Given the description of an element on the screen output the (x, y) to click on. 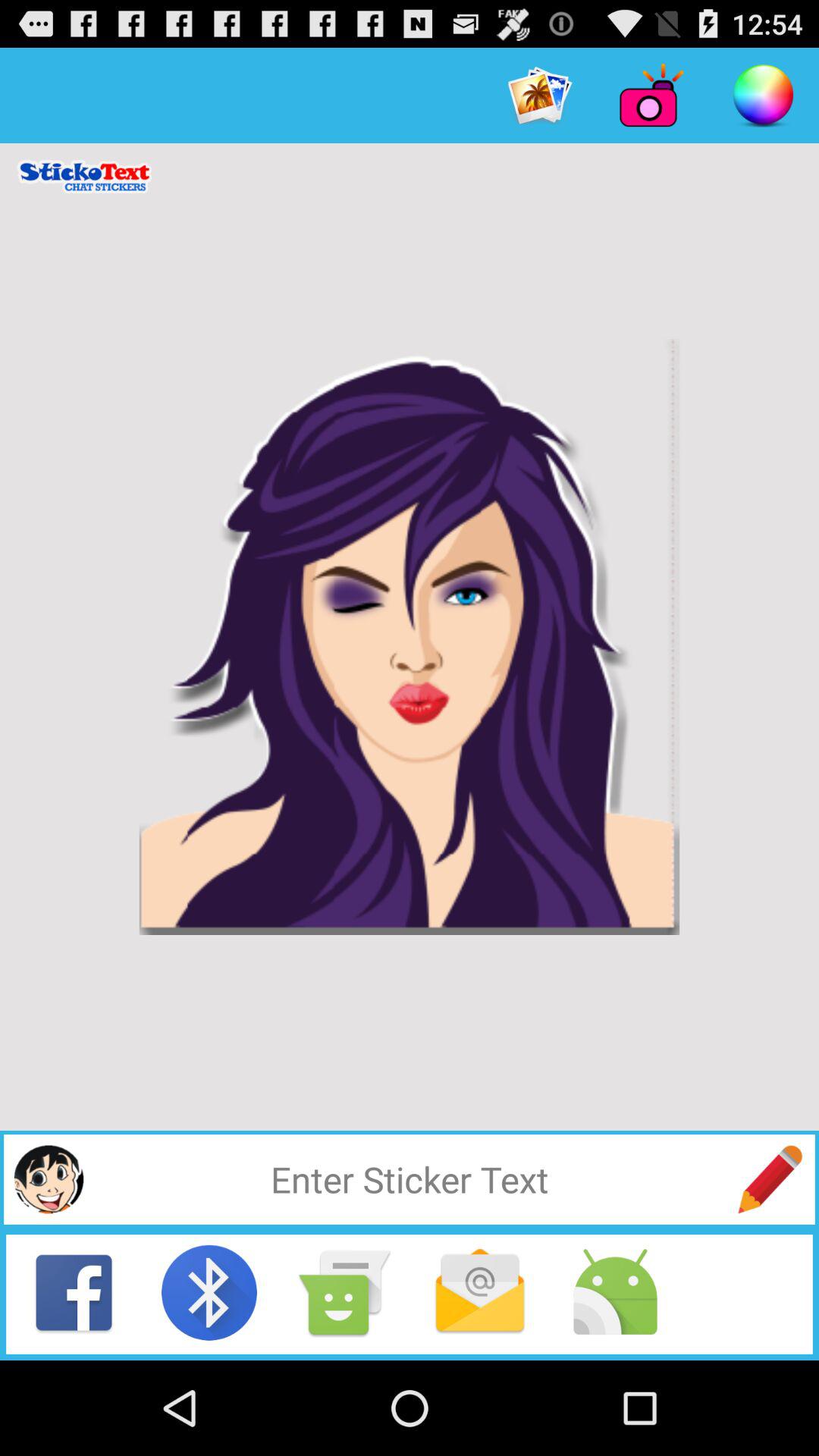
use this to write a mesage (770, 1179)
